Given the description of an element on the screen output the (x, y) to click on. 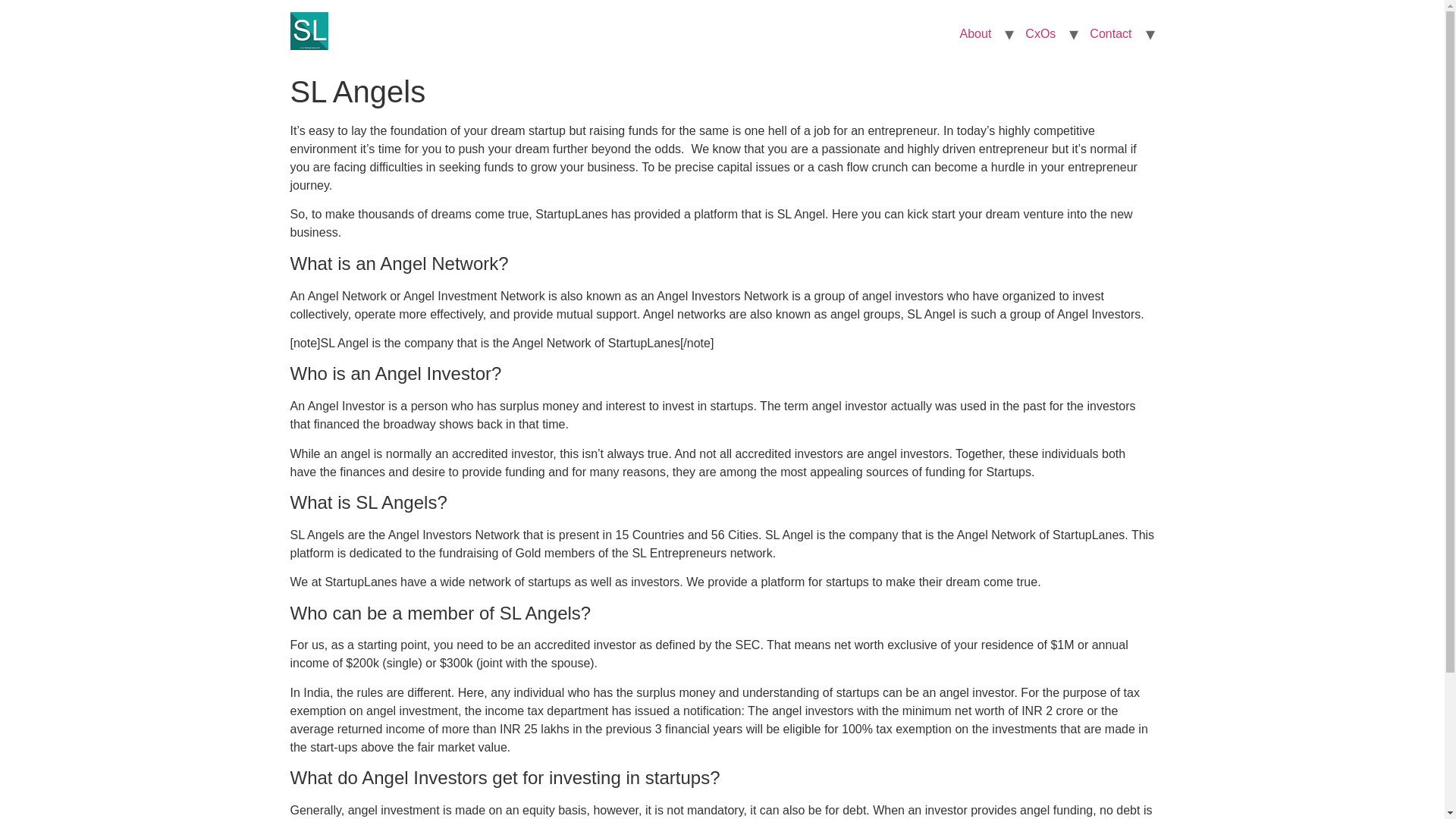
Contact (1110, 33)
CxOs (1040, 33)
About (976, 33)
